Given the description of an element on the screen output the (x, y) to click on. 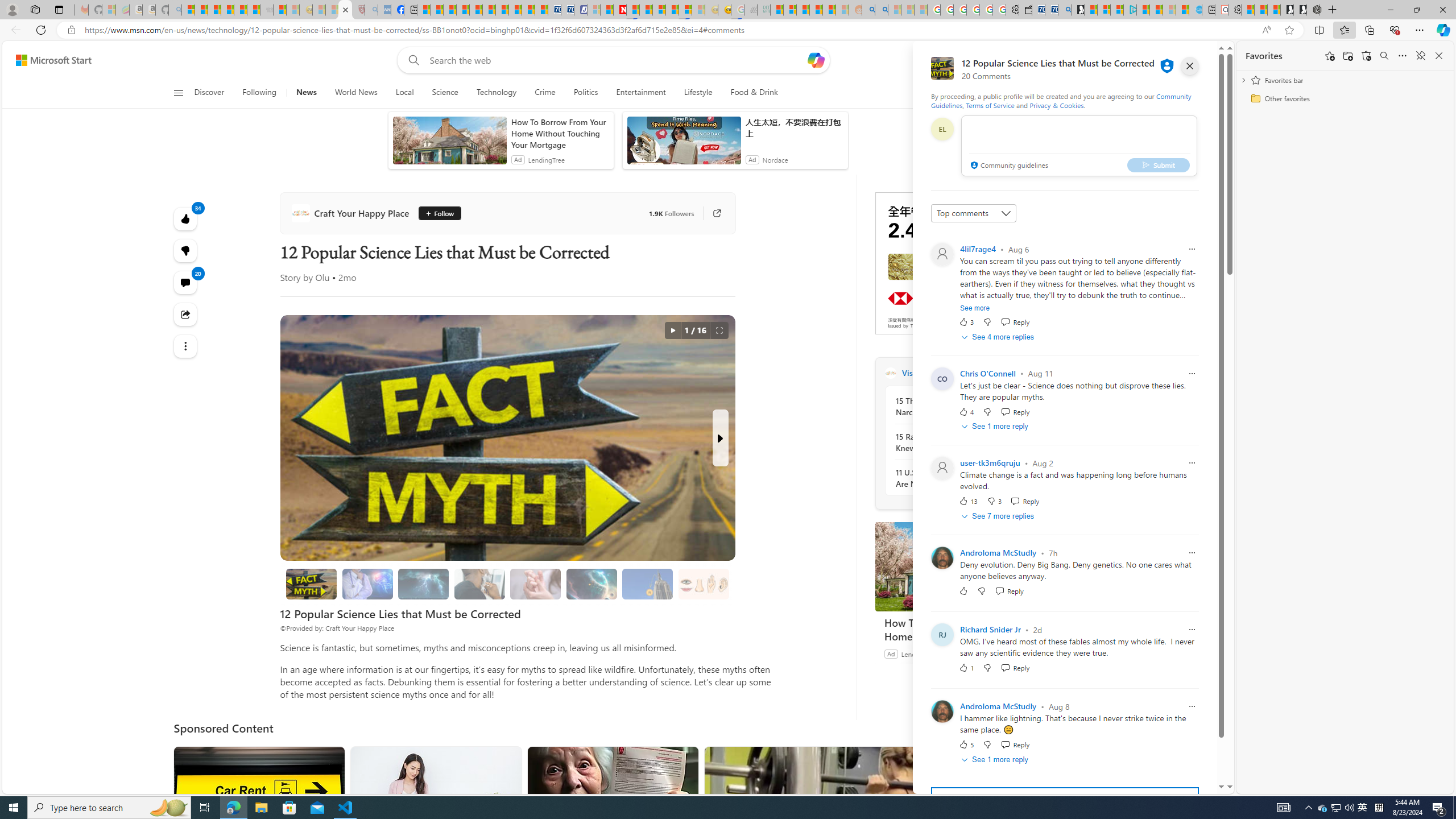
5 Like (965, 744)
Terminal Velocity of Falling Objects (646, 583)
Community Guidelines (1060, 100)
